Given the description of an element on the screen output the (x, y) to click on. 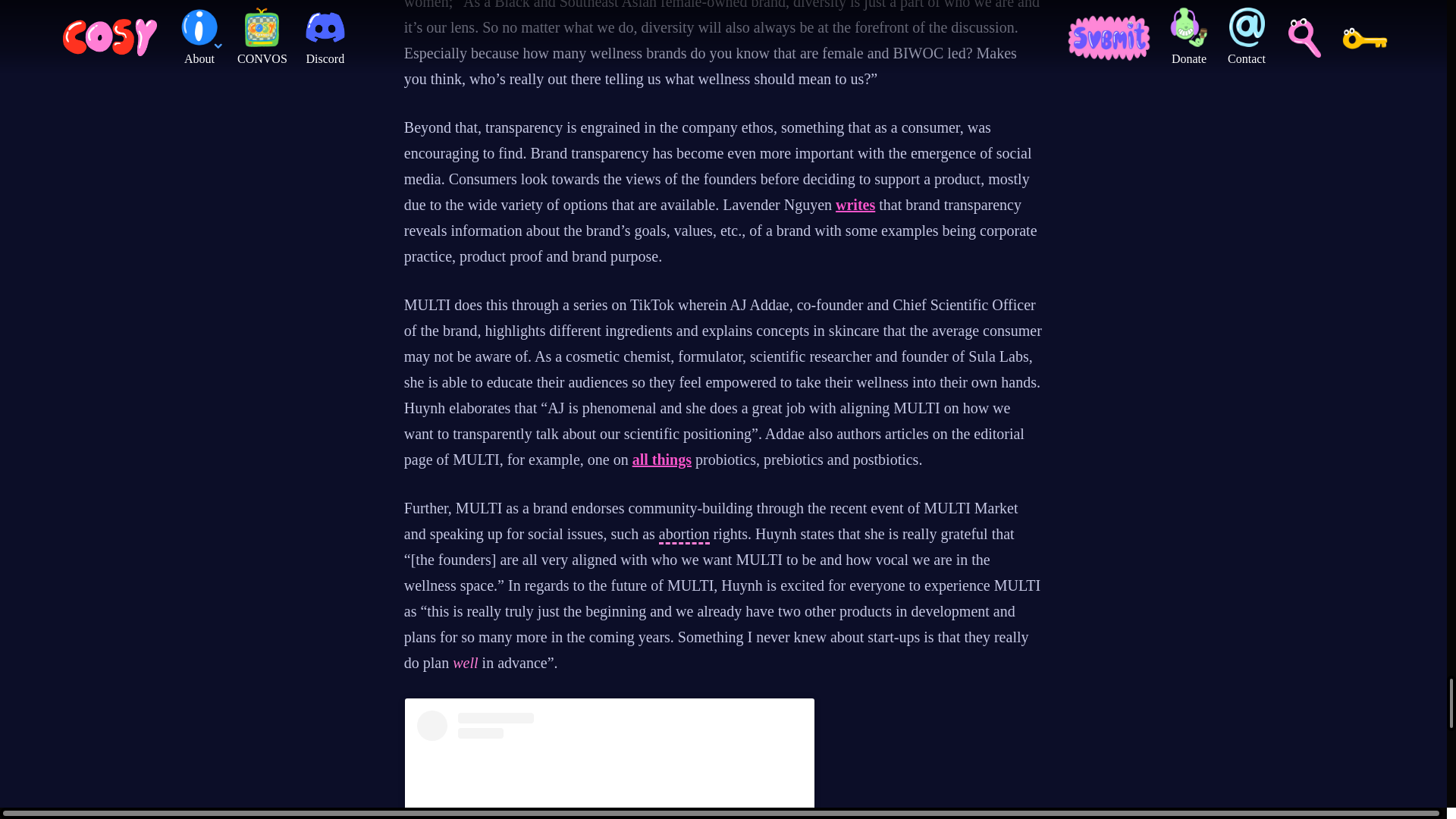
writes (855, 204)
View this post on Instagram (609, 764)
all things (661, 459)
